Given the description of an element on the screen output the (x, y) to click on. 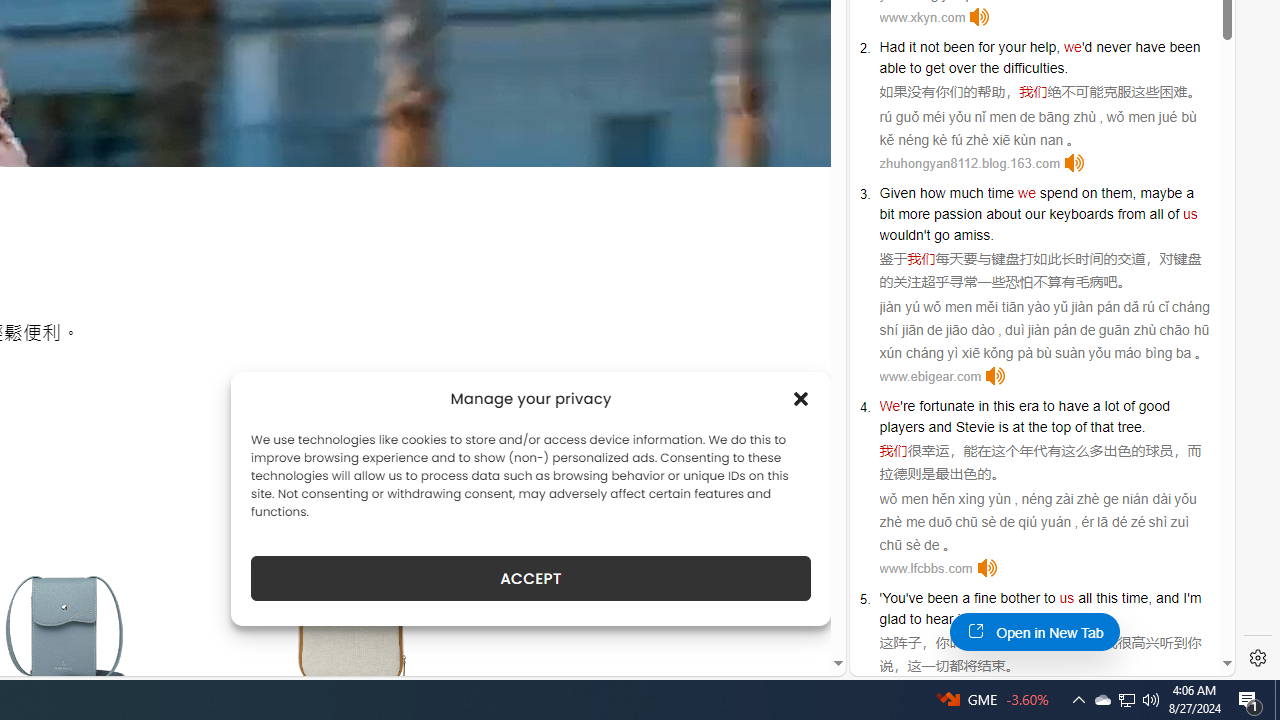
all (1085, 597)
the (989, 67)
ACCEPT (530, 578)
top (1060, 426)
have (1073, 405)
stop (1044, 619)
